Given the description of an element on the screen output the (x, y) to click on. 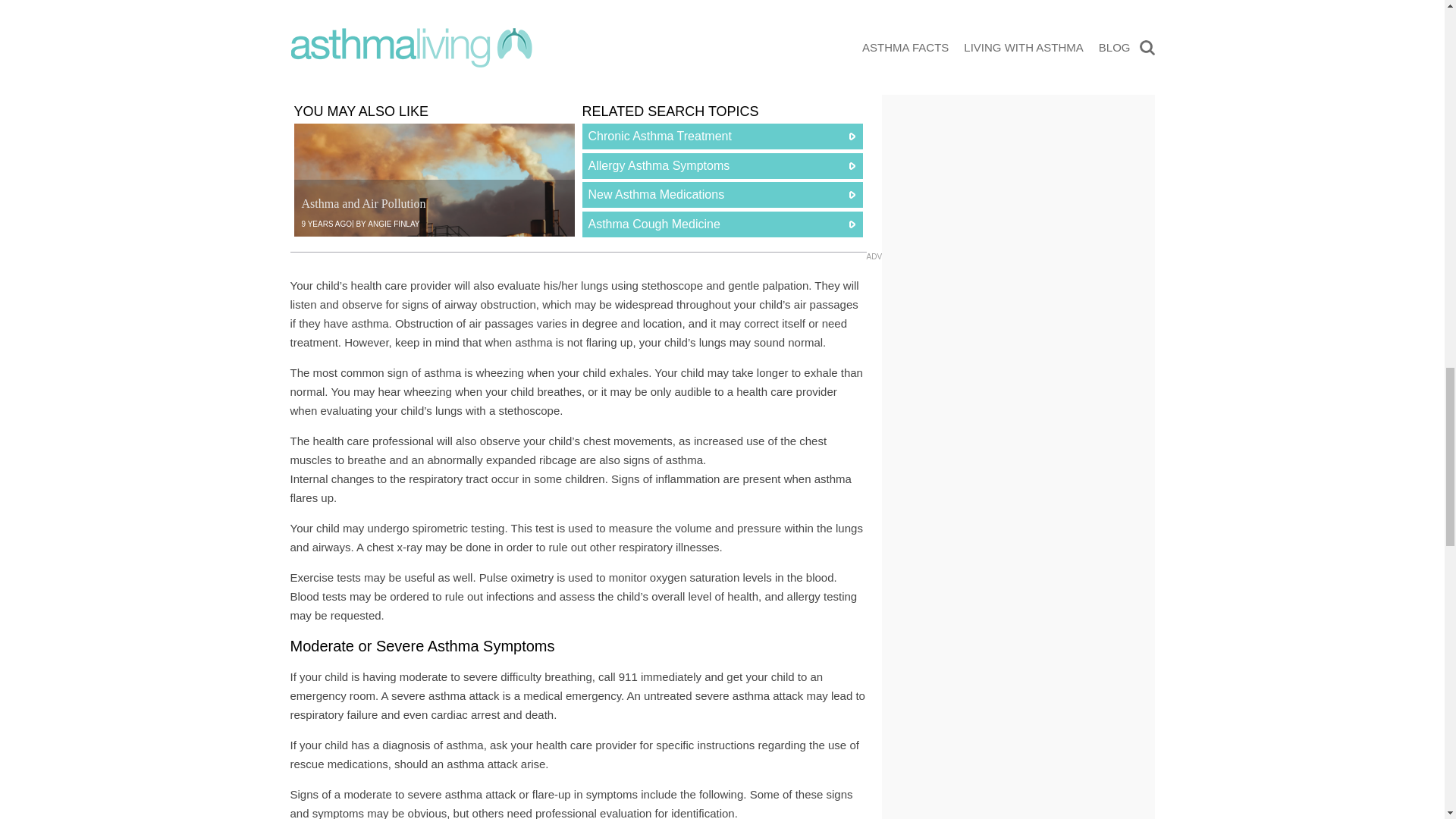
ANGIE FINLAY (393, 224)
Asthma Cough Medicine (722, 224)
Allergy Asthma Symptoms (722, 166)
Asthma and Air Pollution (434, 179)
Chronic Asthma Treatment (722, 136)
Asthma and Air Pollution (363, 203)
New Asthma Medications (722, 194)
